Given the description of an element on the screen output the (x, y) to click on. 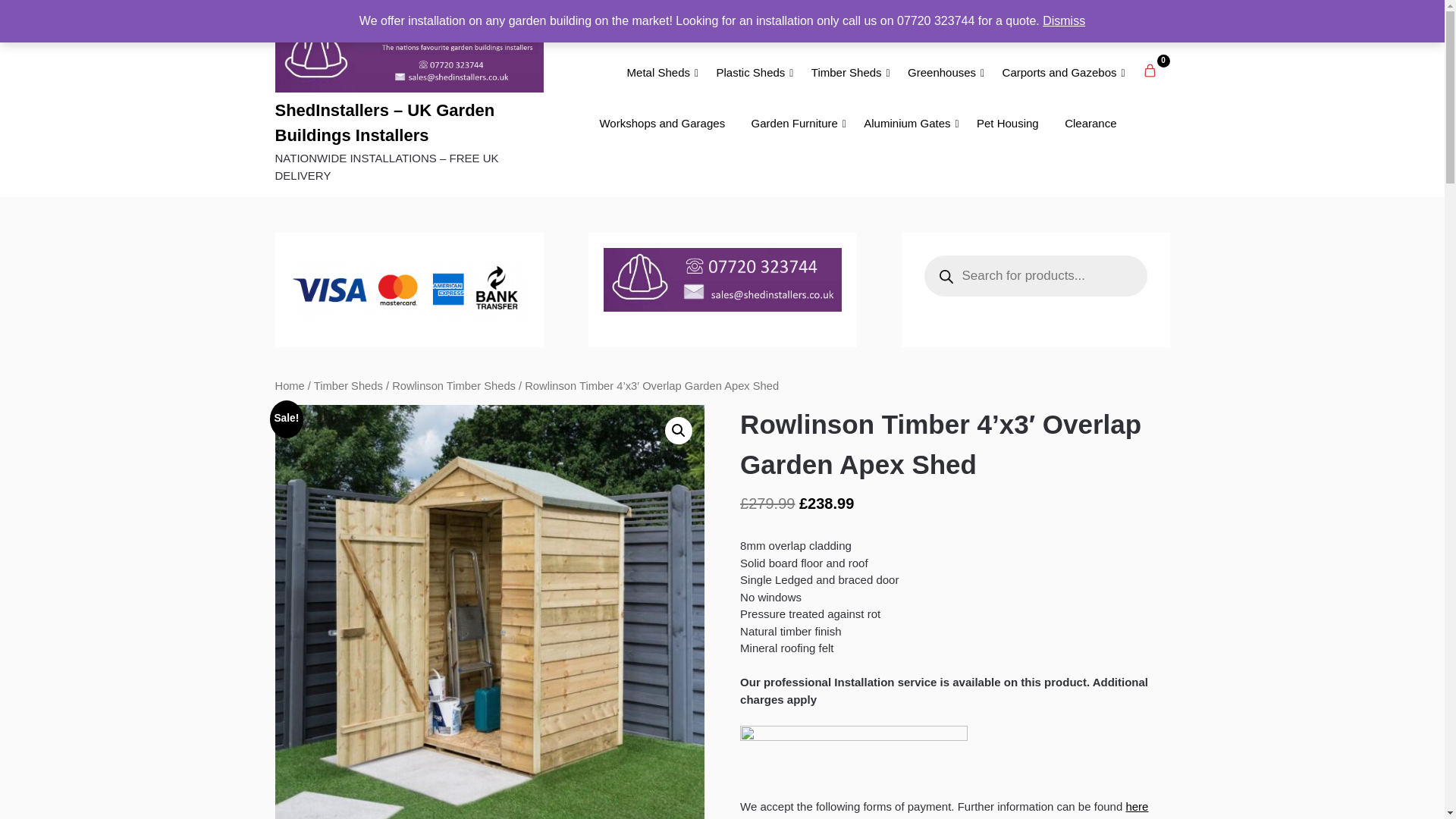
Metal Sheds (658, 73)
Timber Sheds (846, 73)
Plastic Sheds (750, 73)
